Given the description of an element on the screen output the (x, y) to click on. 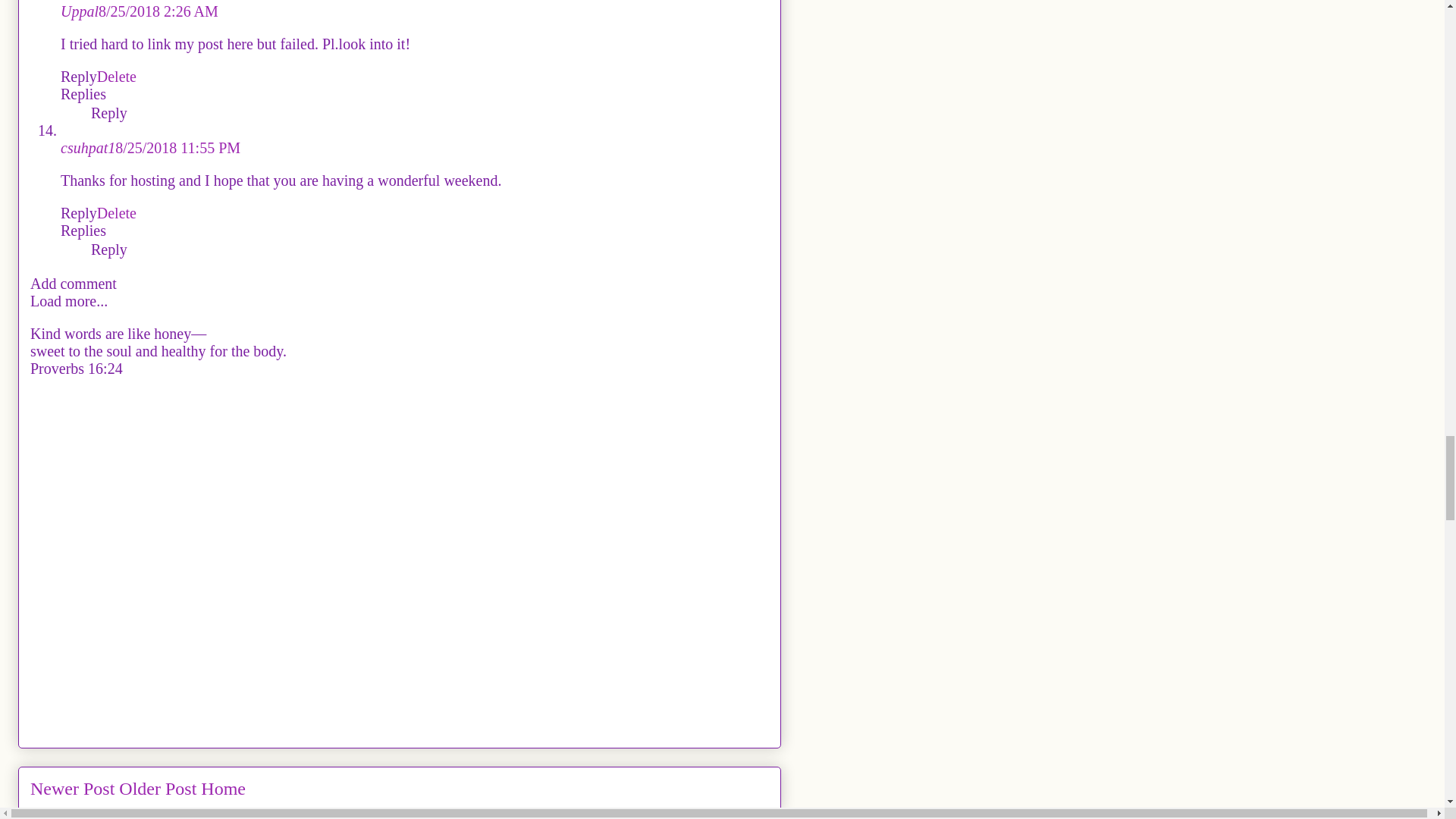
Newer Post (72, 788)
Older Post (157, 788)
